Given the description of an element on the screen output the (x, y) to click on. 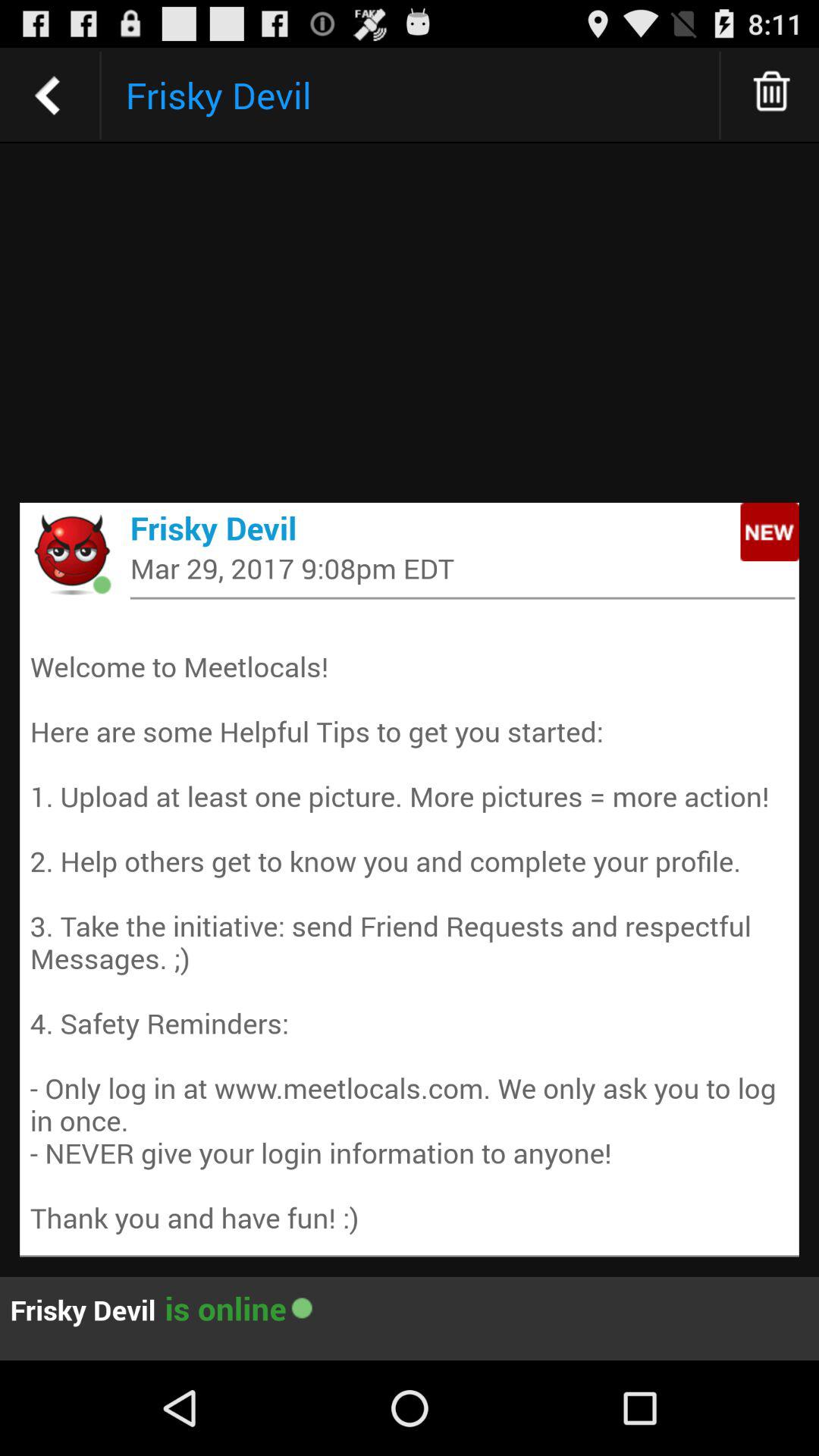
select the icon below frisky devil app (462, 567)
